Given the description of an element on the screen output the (x, y) to click on. 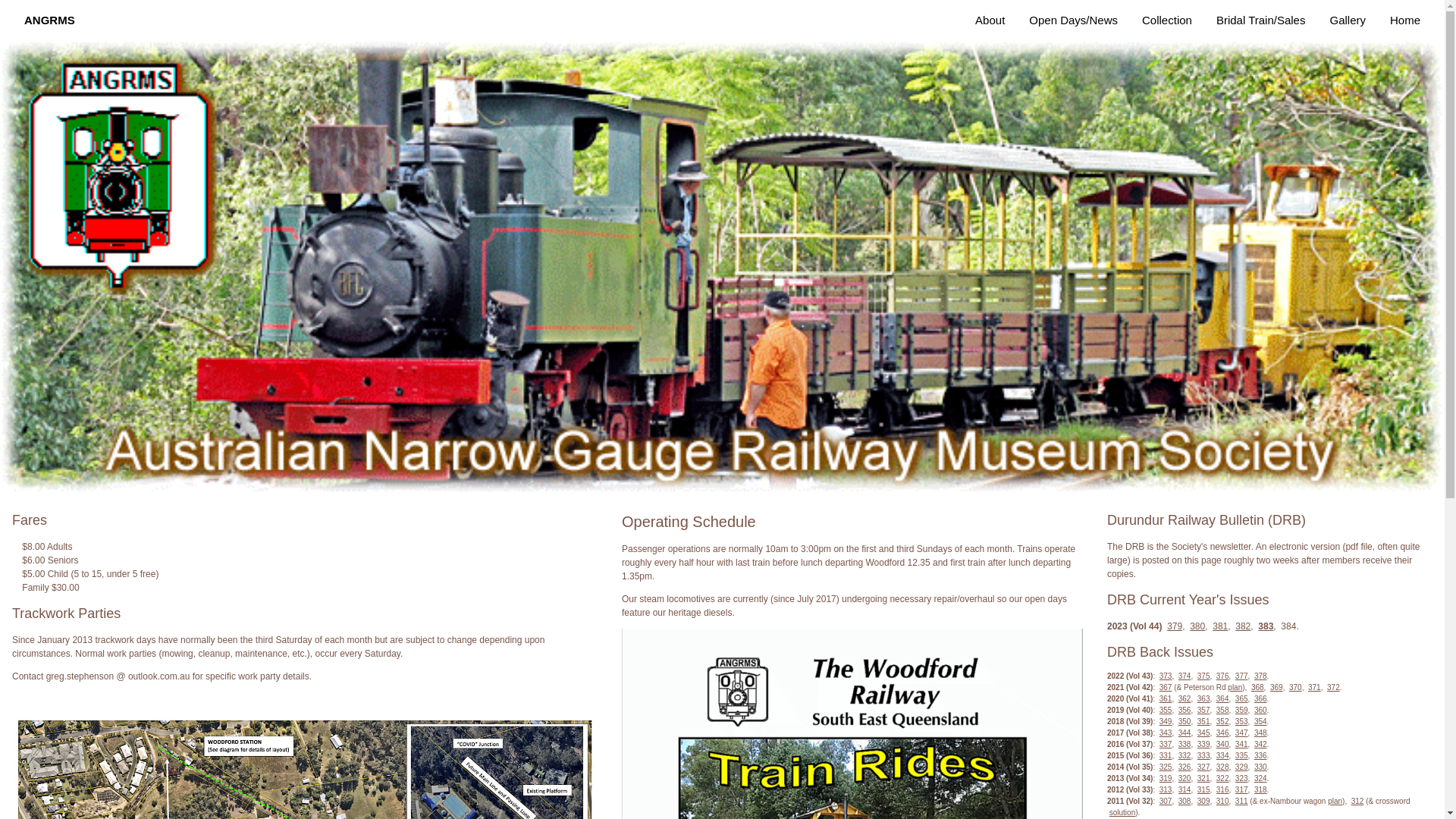
325 Element type: text (1165, 766)
341 Element type: text (1241, 744)
369 Element type: text (1276, 687)
329 Element type: text (1241, 766)
368 Element type: text (1257, 687)
318 Element type: text (1260, 789)
About Element type: text (989, 20)
333 Element type: text (1203, 755)
356 Element type: text (1184, 710)
363 Element type: text (1203, 698)
375 Element type: text (1203, 675)
310 Element type: text (1222, 801)
327 Element type: text (1203, 766)
383 Element type: text (1265, 626)
355 Element type: text (1165, 710)
339 Element type: text (1203, 744)
358 Element type: text (1222, 710)
313 Element type: text (1165, 789)
373 Element type: text (1165, 675)
366 Element type: text (1260, 698)
321 Element type: text (1203, 778)
346 Element type: text (1222, 732)
319 Element type: text (1165, 778)
ANGRMS Element type: text (49, 20)
Bridal Train/Sales Element type: text (1260, 20)
371 Element type: text (1314, 687)
364 Element type: text (1222, 698)
Gallery Element type: text (1347, 20)
332 Element type: text (1184, 755)
381 Element type: text (1219, 626)
357 Element type: text (1203, 710)
382 Element type: text (1242, 626)
362 Element type: text (1184, 698)
Home Element type: text (1404, 20)
374 Element type: text (1184, 675)
322 Element type: text (1222, 778)
336 Element type: text (1260, 755)
342 Element type: text (1260, 744)
347 Element type: text (1241, 732)
361 Element type: text (1165, 698)
379 Element type: text (1174, 626)
plan Element type: text (1234, 687)
Open Days/News Element type: text (1072, 20)
317 Element type: text (1241, 789)
372 Element type: text (1333, 687)
314 Element type: text (1184, 789)
326 Element type: text (1184, 766)
349 Element type: text (1165, 721)
367 Element type: text (1165, 687)
360 Element type: text (1260, 710)
350 Element type: text (1184, 721)
315 Element type: text (1203, 789)
353 Element type: text (1241, 721)
340 Element type: text (1222, 744)
338 Element type: text (1184, 744)
323 Element type: text (1241, 778)
351 Element type: text (1203, 721)
solution Element type: text (1122, 812)
308 Element type: text (1184, 801)
324 Element type: text (1260, 778)
365 Element type: text (1241, 698)
377 Element type: text (1241, 675)
337 Element type: text (1165, 744)
348 Element type: text (1260, 732)
Collection Element type: text (1166, 20)
311 Element type: text (1241, 801)
312 Element type: text (1357, 801)
331 Element type: text (1165, 755)
352 Element type: text (1222, 721)
359 Element type: text (1241, 710)
309 Element type: text (1203, 801)
334 Element type: text (1222, 755)
380 Element type: text (1196, 626)
376 Element type: text (1222, 675)
343 Element type: text (1165, 732)
320 Element type: text (1184, 778)
316 Element type: text (1222, 789)
378 Element type: text (1260, 675)
370 Element type: text (1295, 687)
307 Element type: text (1165, 801)
plan Element type: text (1334, 801)
330 Element type: text (1260, 766)
344 Element type: text (1184, 732)
354 Element type: text (1260, 721)
328 Element type: text (1222, 766)
345 Element type: text (1203, 732)
335 Element type: text (1241, 755)
